Given the description of an element on the screen output the (x, y) to click on. 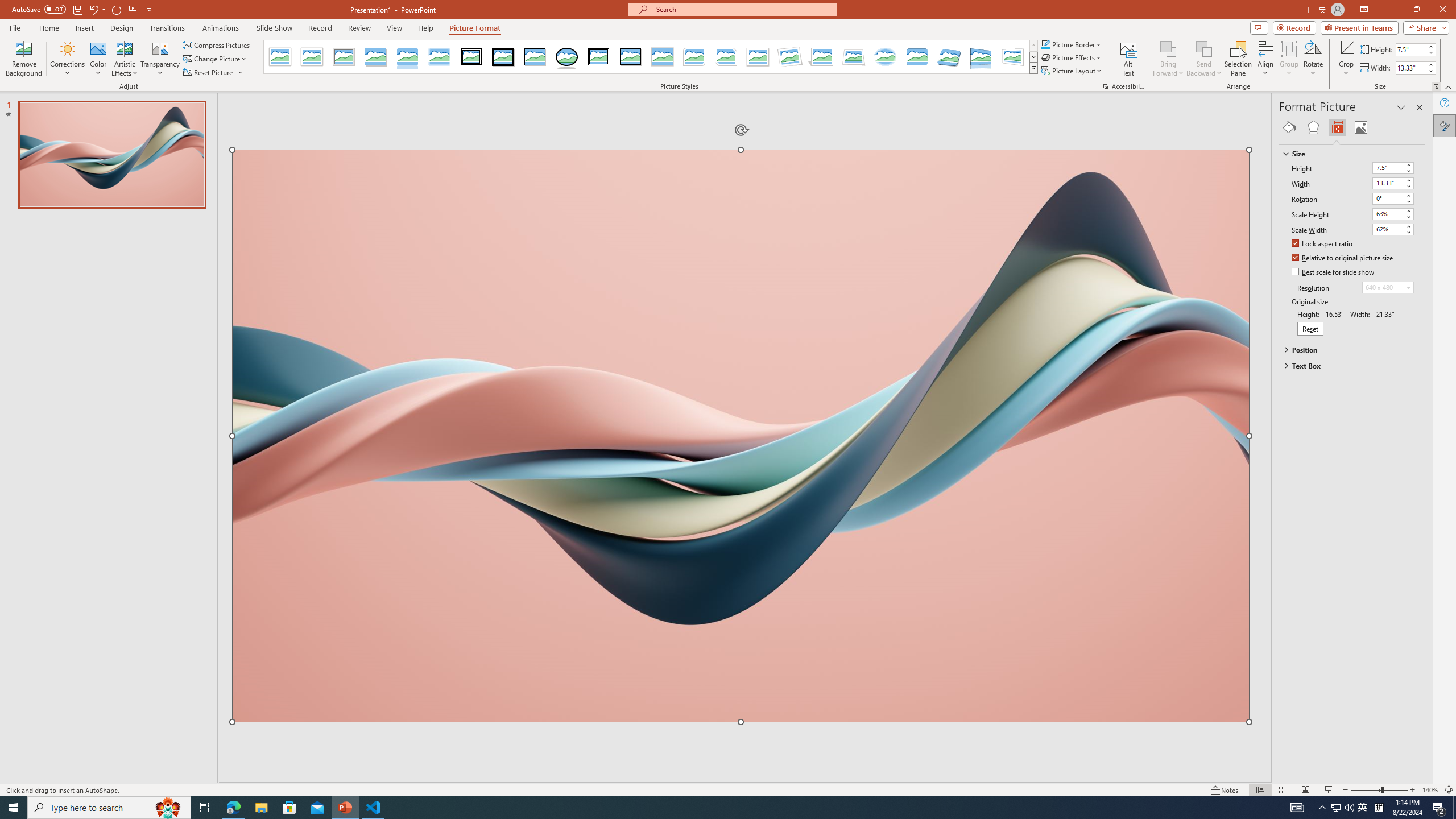
Picture Border (1071, 44)
Help (1444, 102)
Close (1442, 9)
Scale Height (1388, 213)
Resolution (1387, 287)
Picture (1361, 126)
Metal Frame (343, 56)
More Options (1345, 68)
Minimize (1390, 9)
Reflected Rounded Rectangle (407, 56)
Row up (1033, 45)
Picture Border Blue, Accent 1 (1045, 44)
Rotated, White (790, 56)
Comments (1259, 27)
Send Backward (1204, 48)
